Given the description of an element on the screen output the (x, y) to click on. 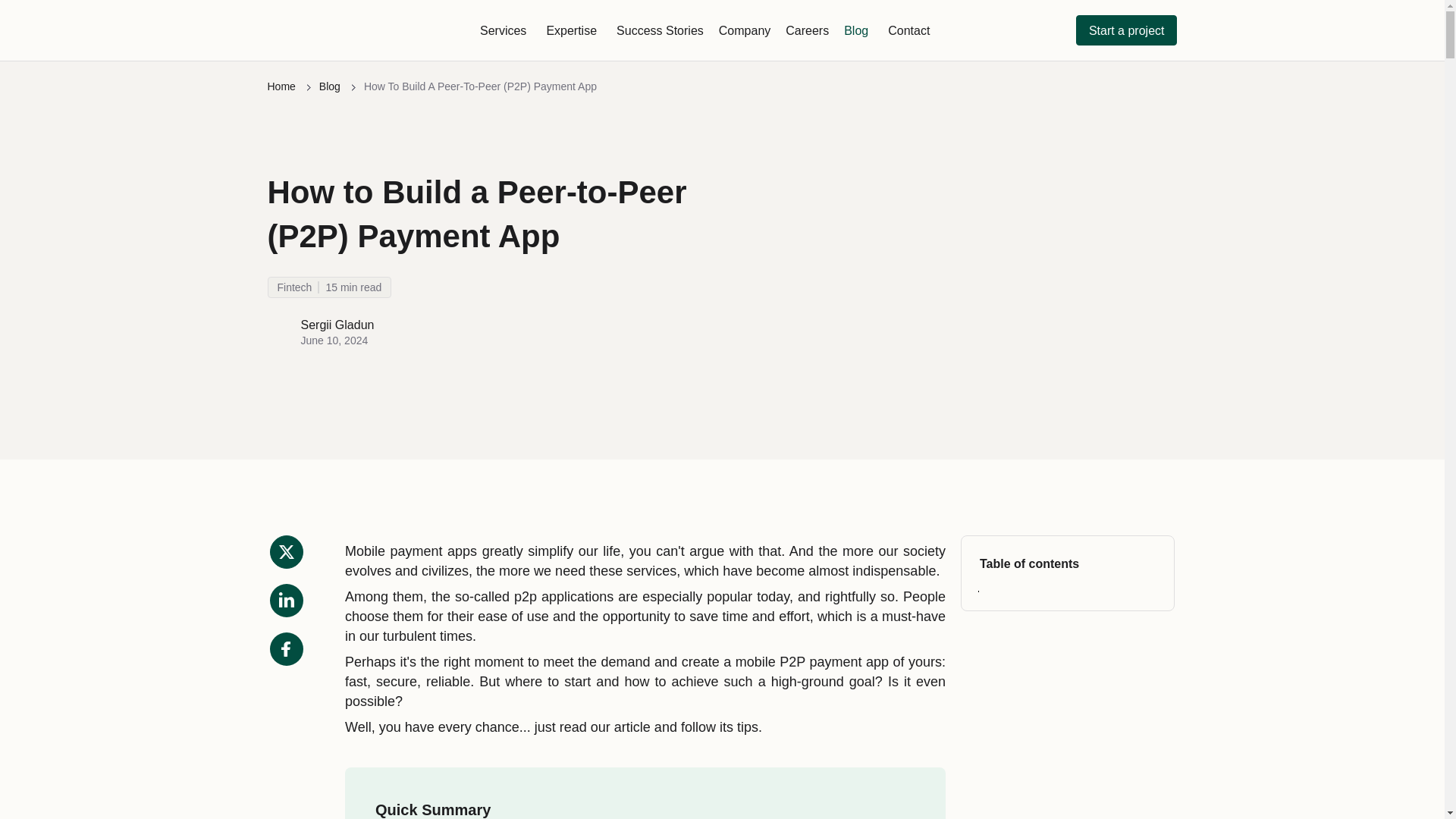
Blog (329, 86)
Contact (909, 30)
Start a project (1126, 30)
Success Stories (659, 30)
Careers (807, 30)
Services (502, 30)
Blog (489, 322)
Company (855, 30)
Home (744, 30)
Expertise (280, 86)
